Given the description of an element on the screen output the (x, y) to click on. 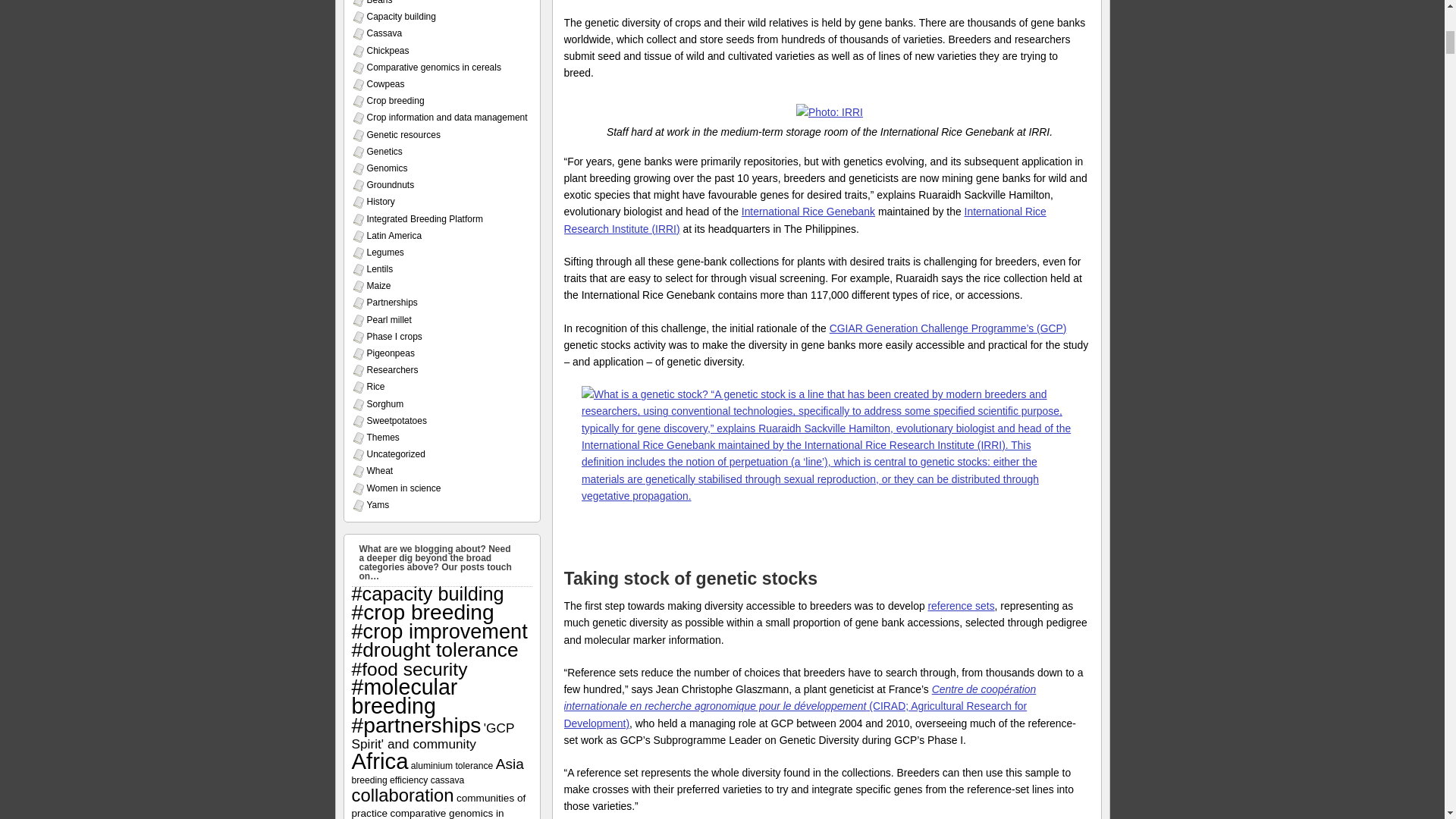
reference sets (960, 605)
International Rice Genebank (808, 211)
Photo: IRRI (829, 112)
